Given the description of an element on the screen output the (x, y) to click on. 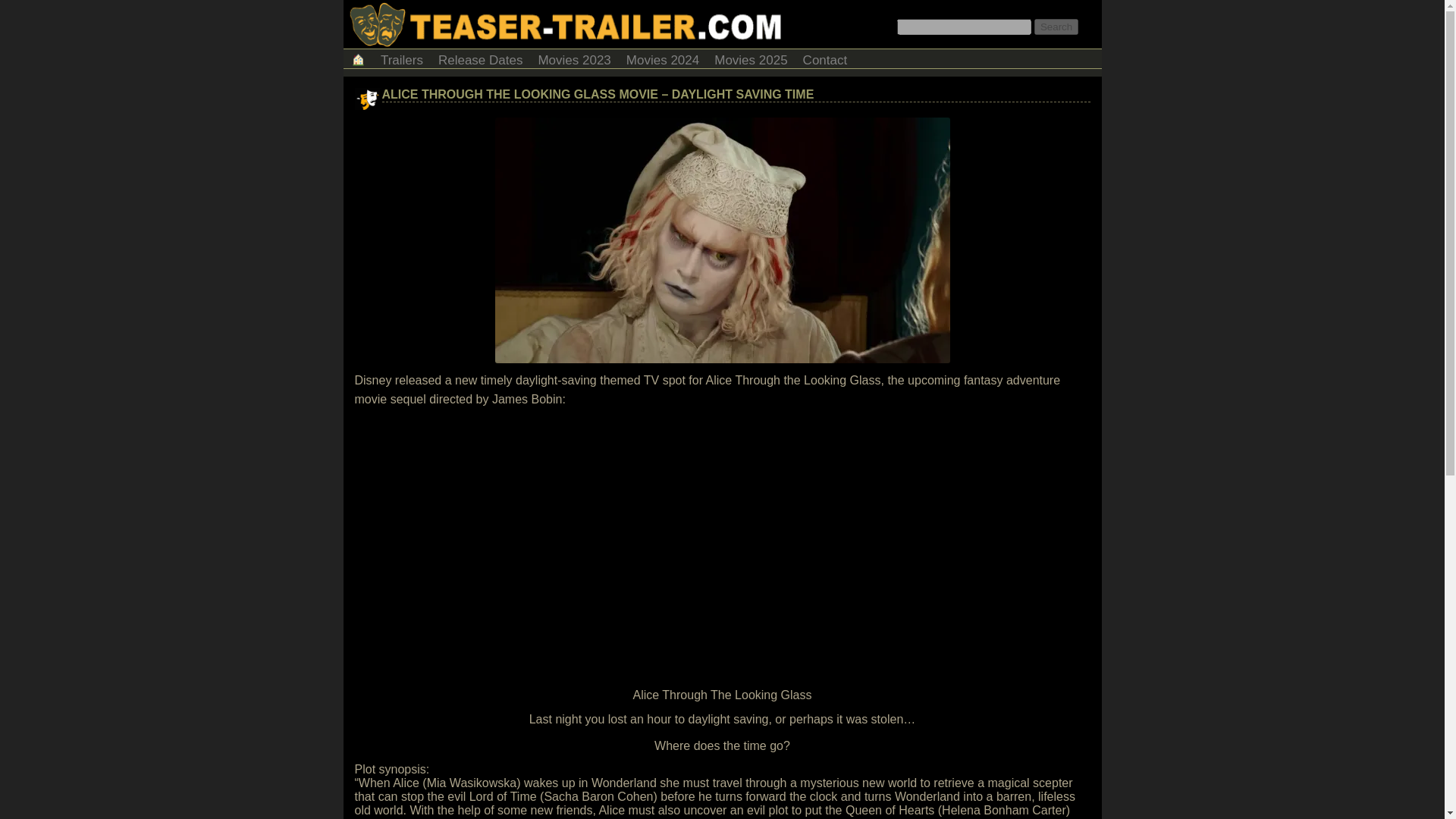
Home (357, 58)
Trailers (401, 58)
Movies 2025 (750, 58)
Search (1055, 26)
Search (1055, 26)
Movies 2024 (662, 58)
Contact (825, 58)
Release Dates (480, 58)
Movies 2023 (573, 58)
